Given the description of an element on the screen output the (x, y) to click on. 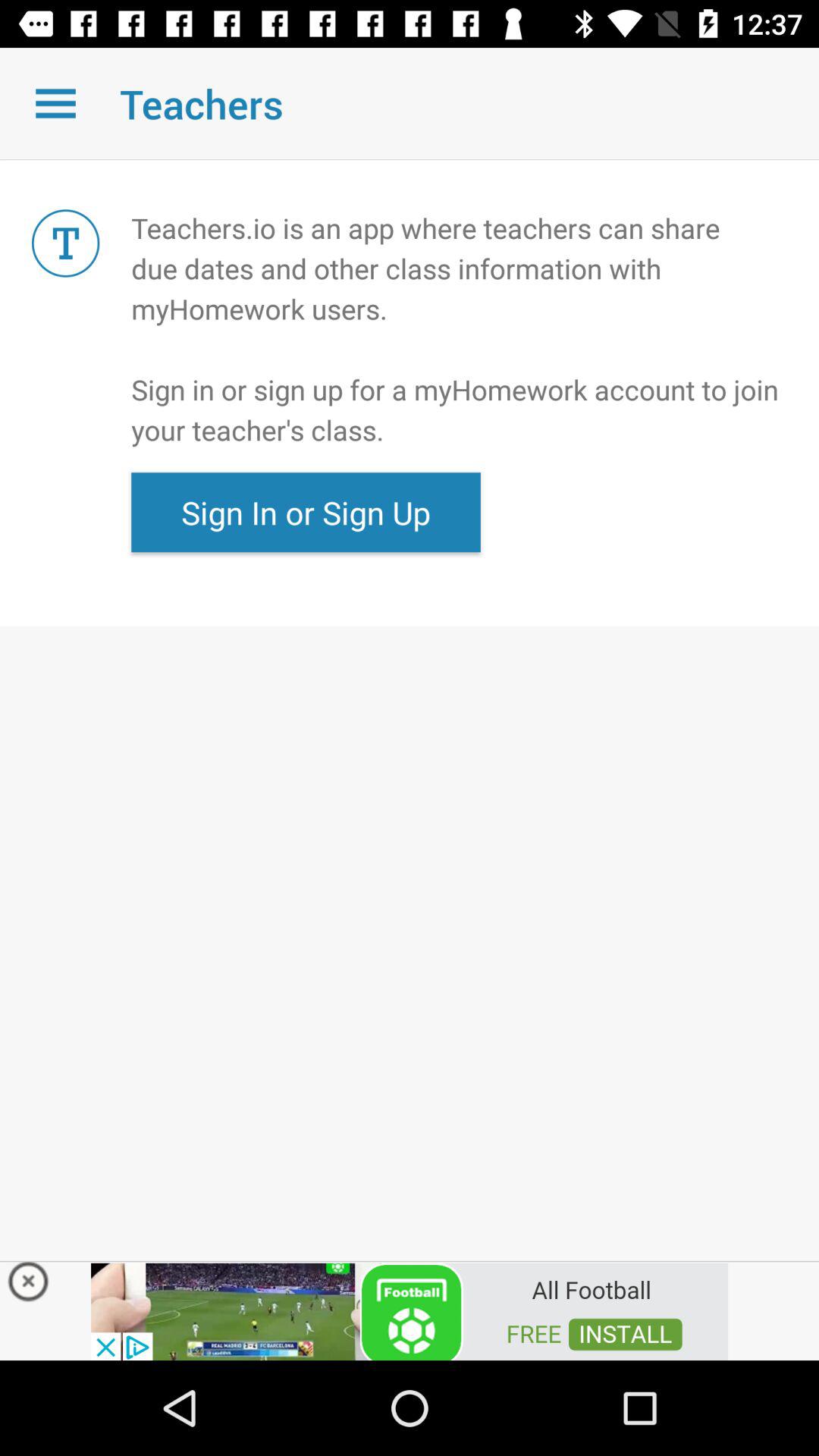
open a menu (55, 103)
